Given the description of an element on the screen output the (x, y) to click on. 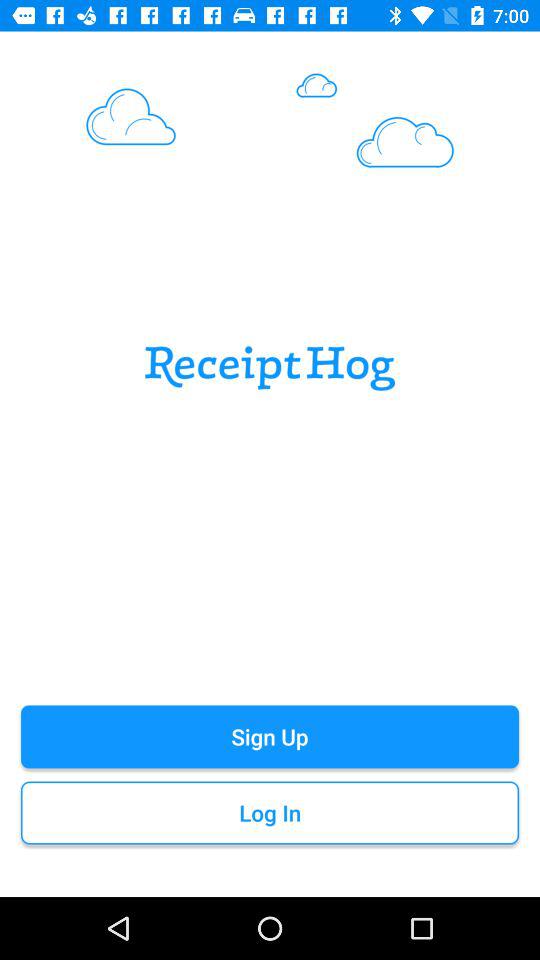
jump to log in (270, 812)
